Given the description of an element on the screen output the (x, y) to click on. 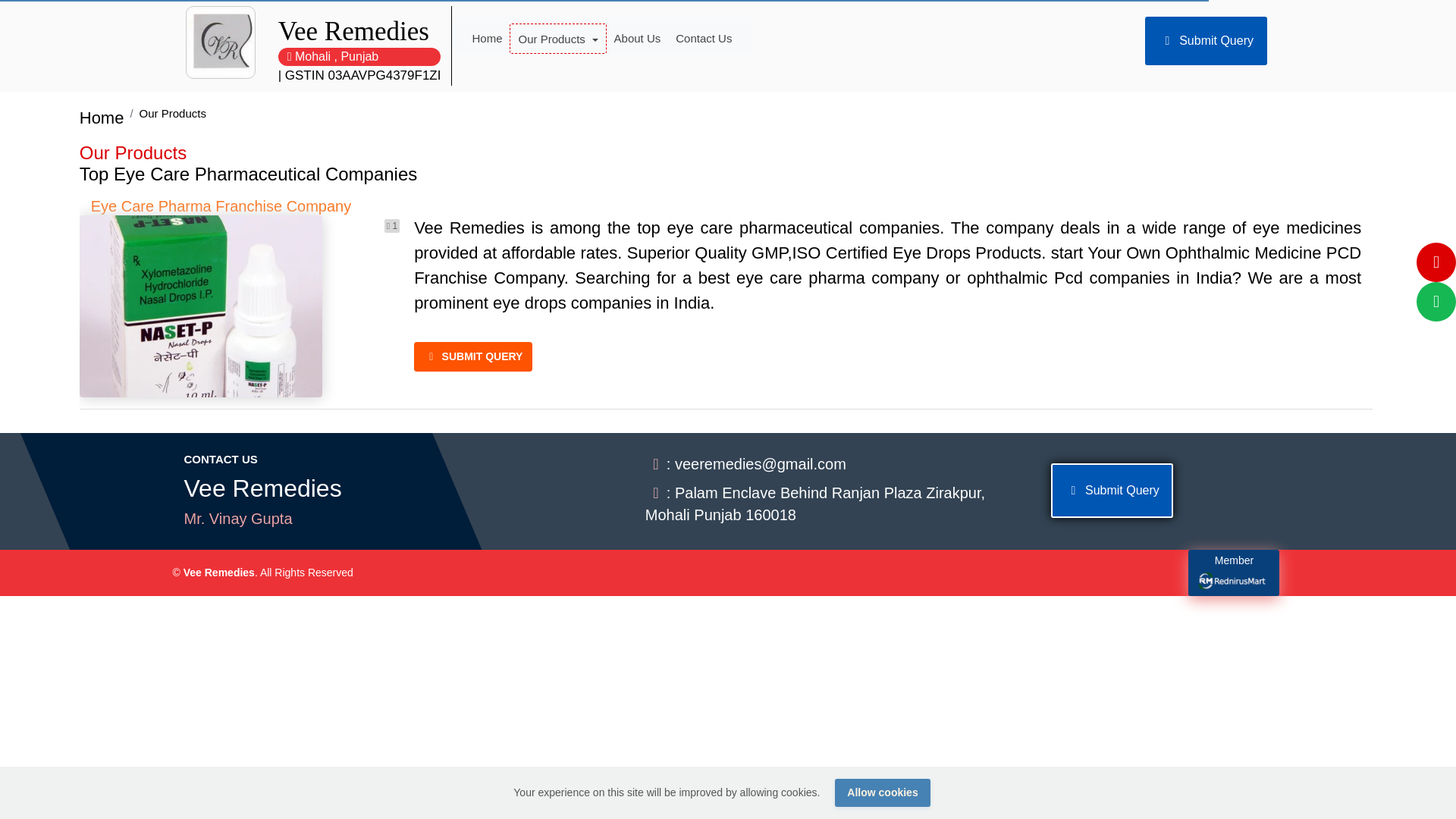
Our Products (557, 38)
Home (486, 38)
